Given the description of an element on the screen output the (x, y) to click on. 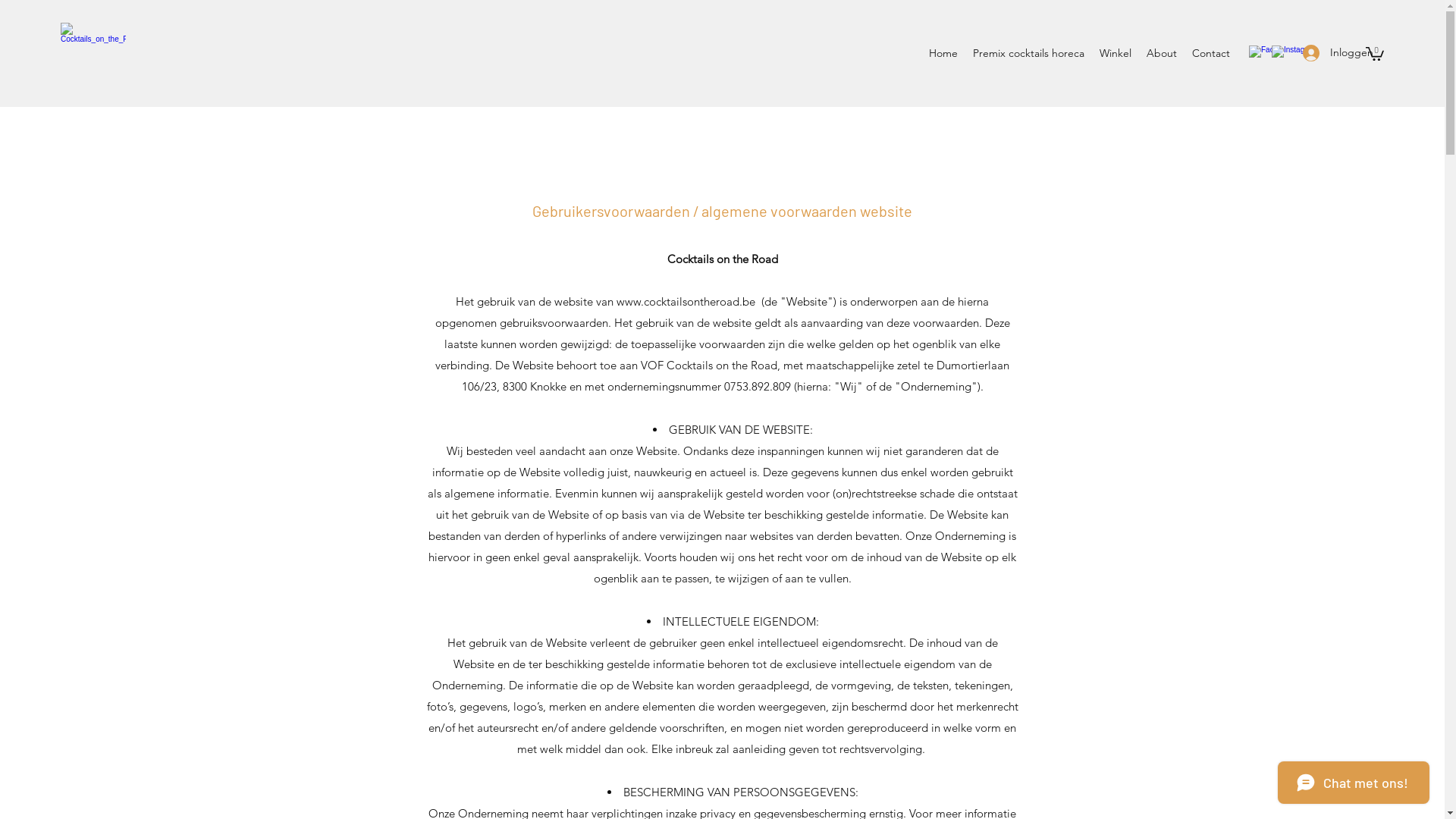
www.cocktailsontheroad.be Element type: text (685, 301)
Winkel Element type: text (1115, 52)
About Element type: text (1161, 52)
Contact Element type: text (1210, 52)
0 Element type: text (1374, 52)
Home Element type: text (943, 52)
Inloggen Element type: text (1326, 52)
Premix cocktails horeca Element type: text (1028, 52)
